Given the description of an element on the screen output the (x, y) to click on. 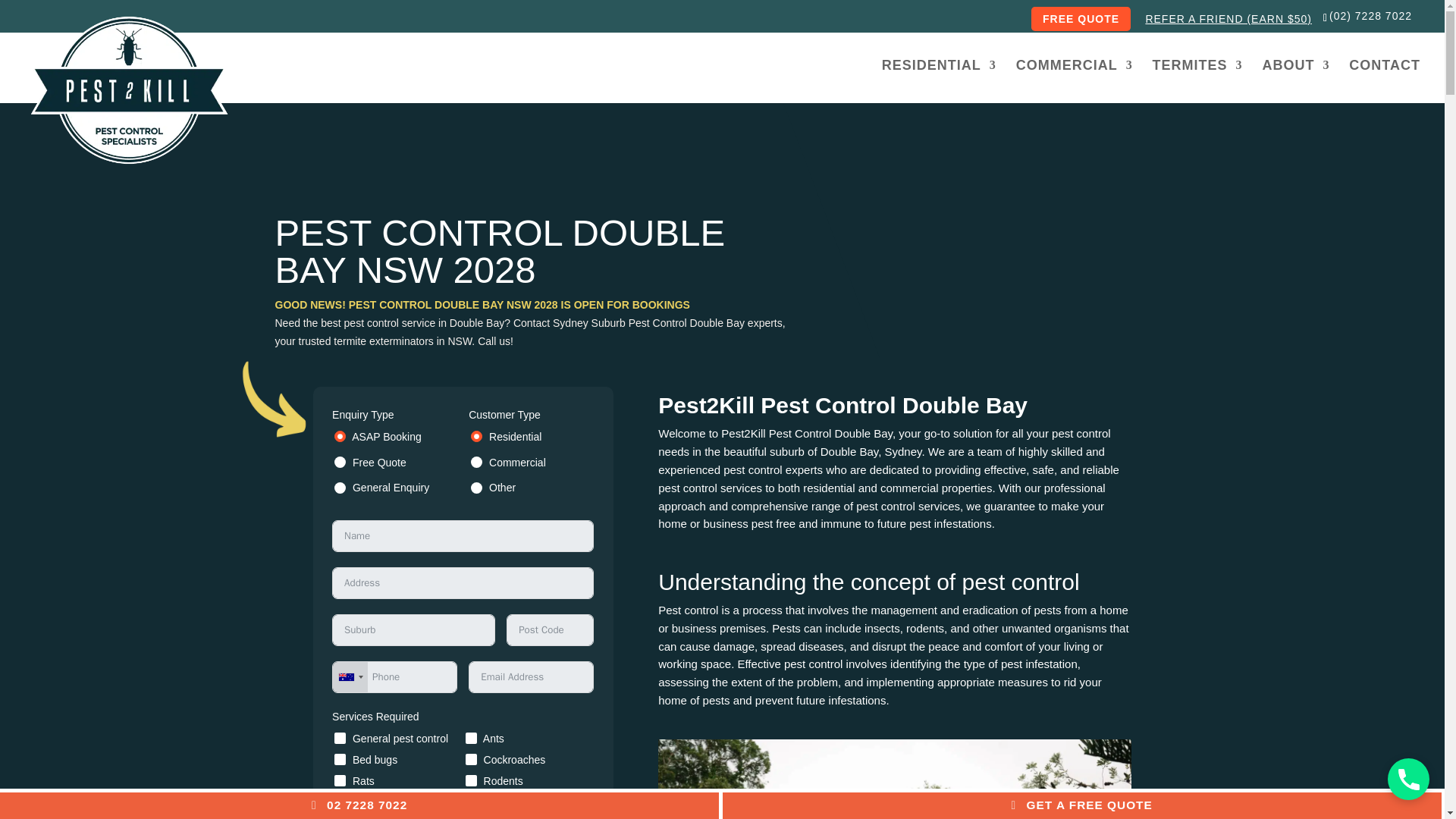
RESIDENTIAL (938, 77)
FREE QUOTE (1080, 18)
arrow (271, 401)
COMMERCIAL (1074, 77)
ute-tem (894, 779)
ABOUT (1295, 77)
TERMITES (1198, 77)
